Given the description of an element on the screen output the (x, y) to click on. 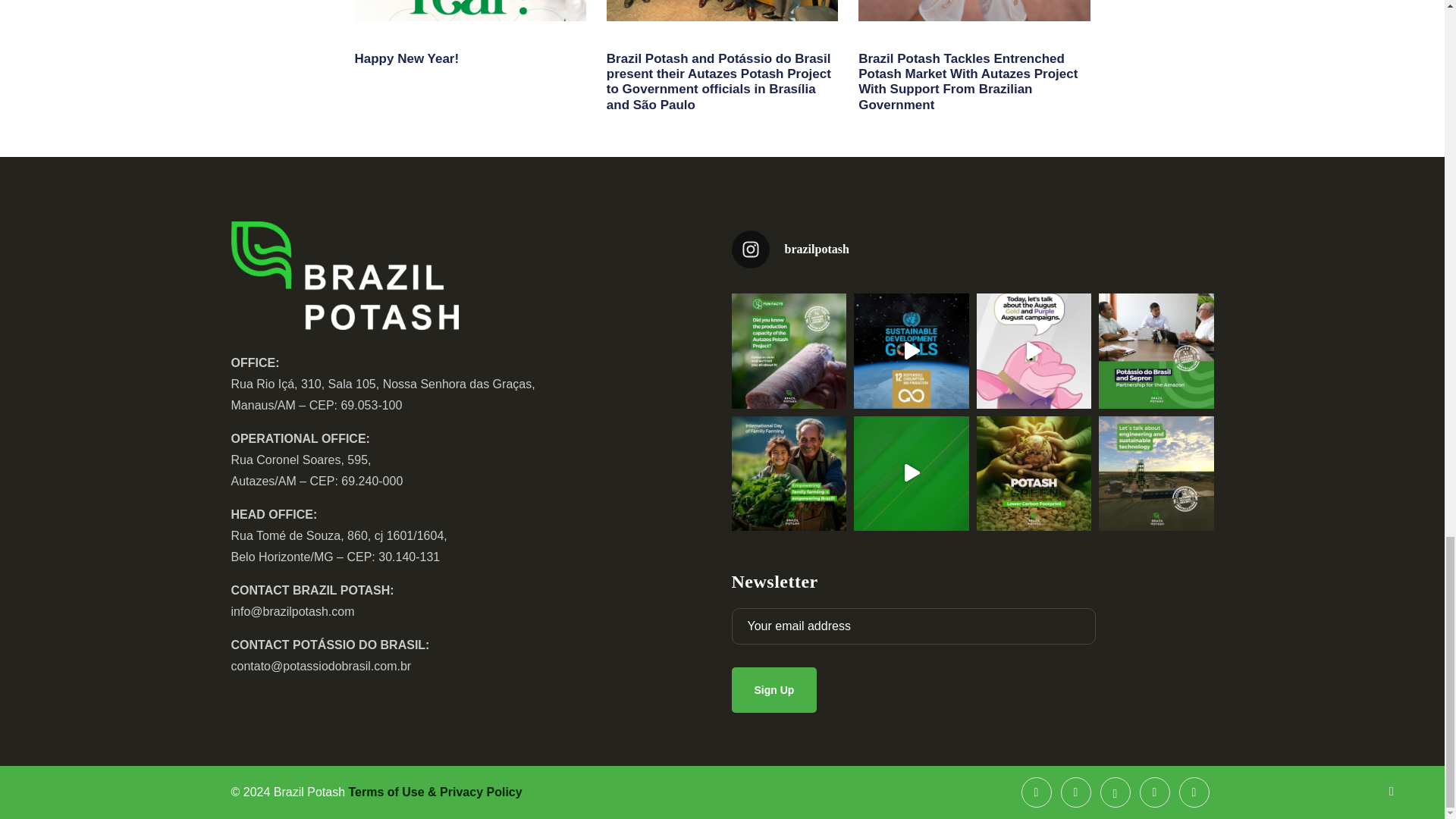
Linkedin (1192, 792)
Facebook (1035, 792)
Happy New Year! (407, 58)
Instagram (1074, 792)
Youtube (1153, 792)
X (1114, 792)
Sign up (773, 689)
